Given the description of an element on the screen output the (x, y) to click on. 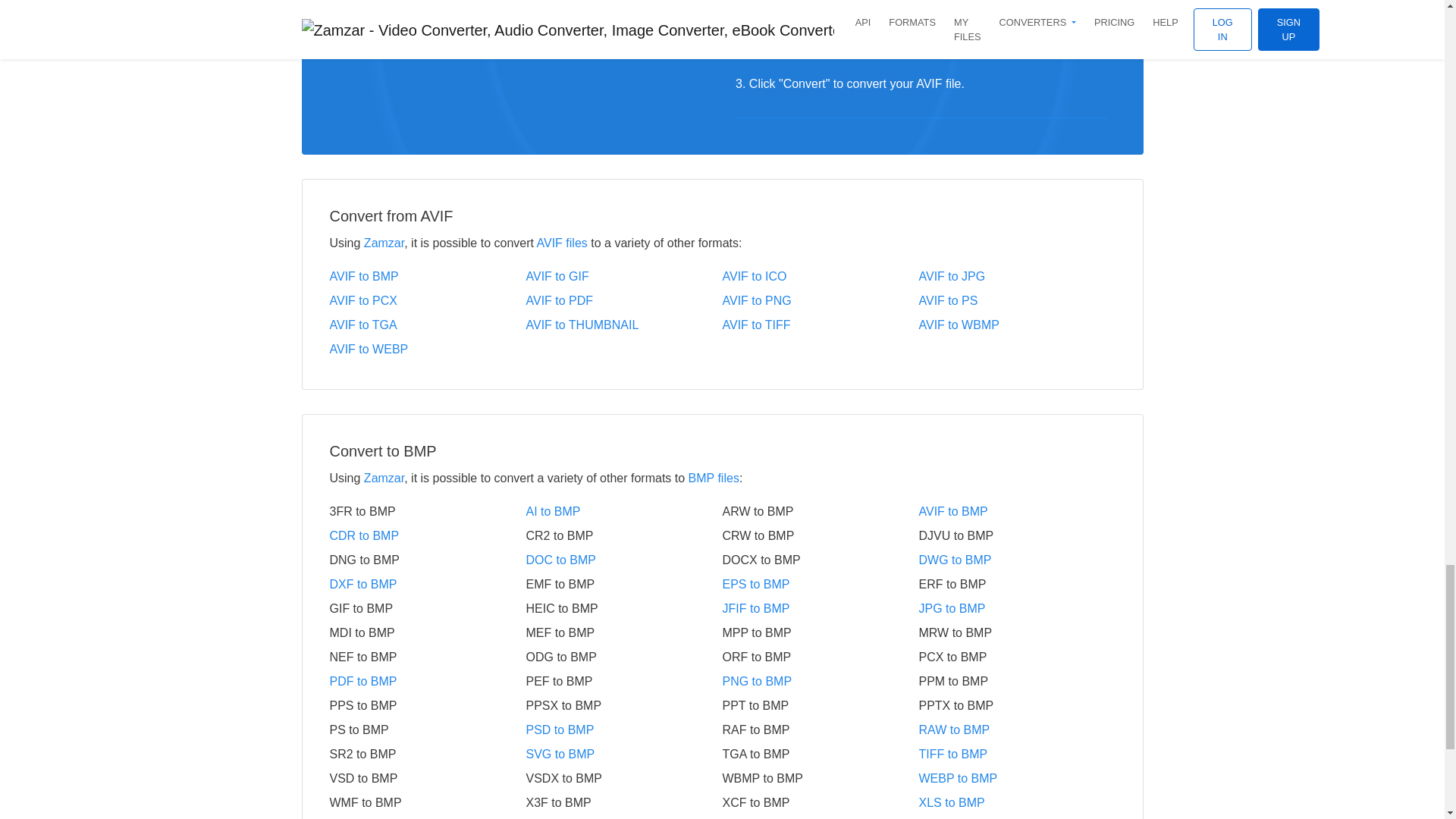
AVIF to BMP Converter (427, 276)
AVIF to GIF Converter (623, 276)
AVIF to PCX Converter (427, 300)
AVIF to JPG Converter (1016, 276)
AVIF to ICO Converter (820, 276)
